Given the description of an element on the screen output the (x, y) to click on. 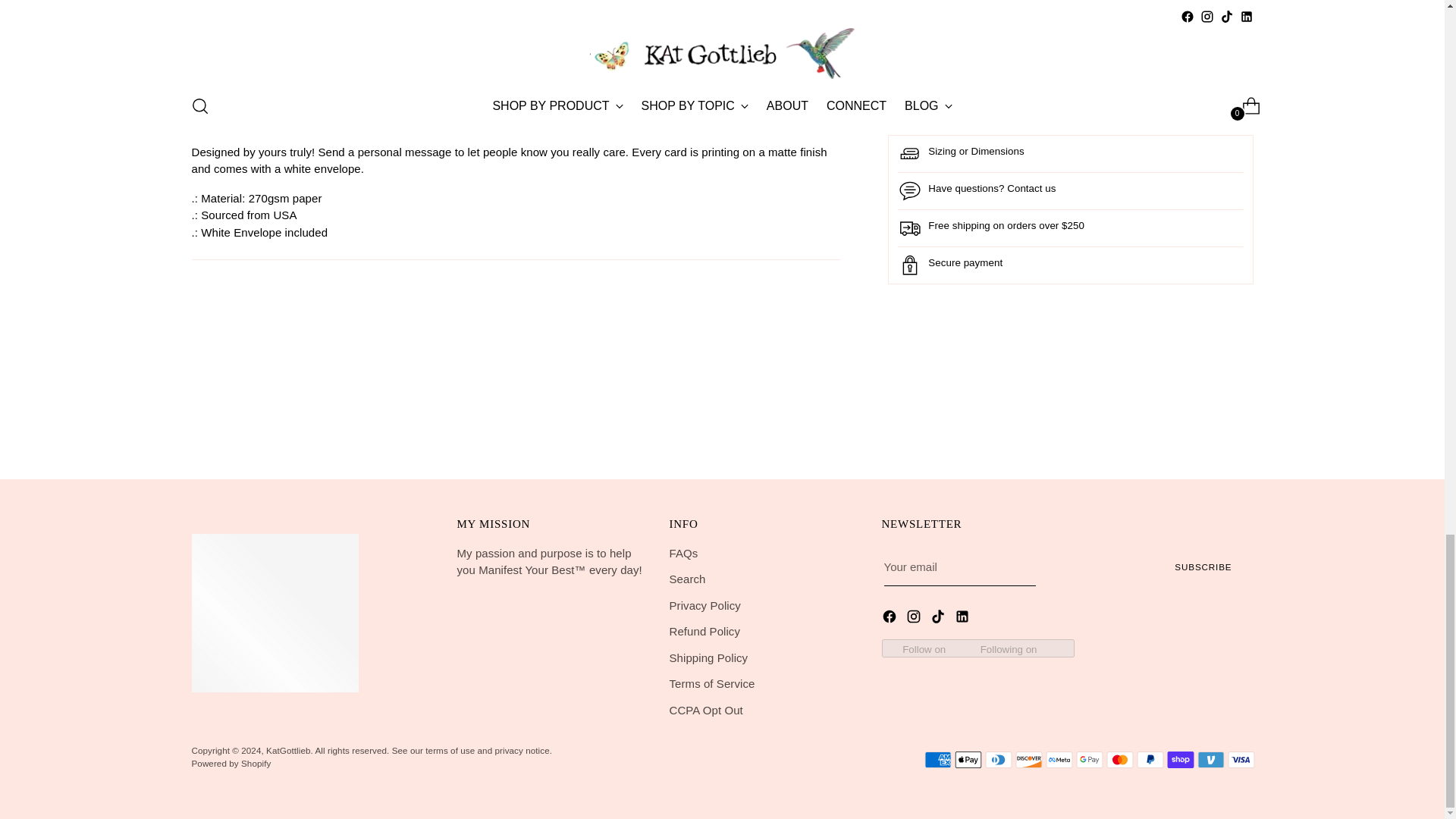
KatGottlieb on LinkedIn (962, 619)
KatGottlieb on Instagram (914, 619)
